Given the description of an element on the screen output the (x, y) to click on. 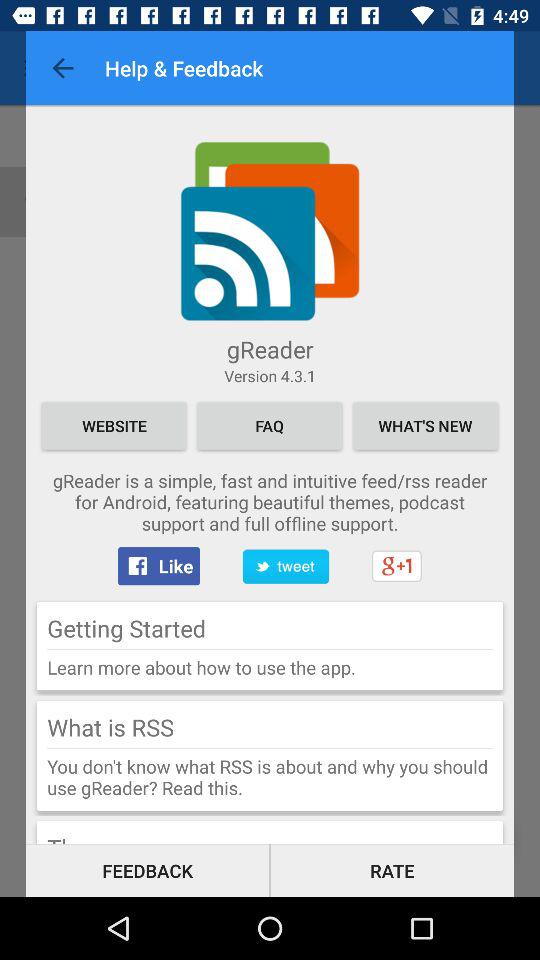
click the version 4 3 (269, 375)
